Given the description of an element on the screen output the (x, y) to click on. 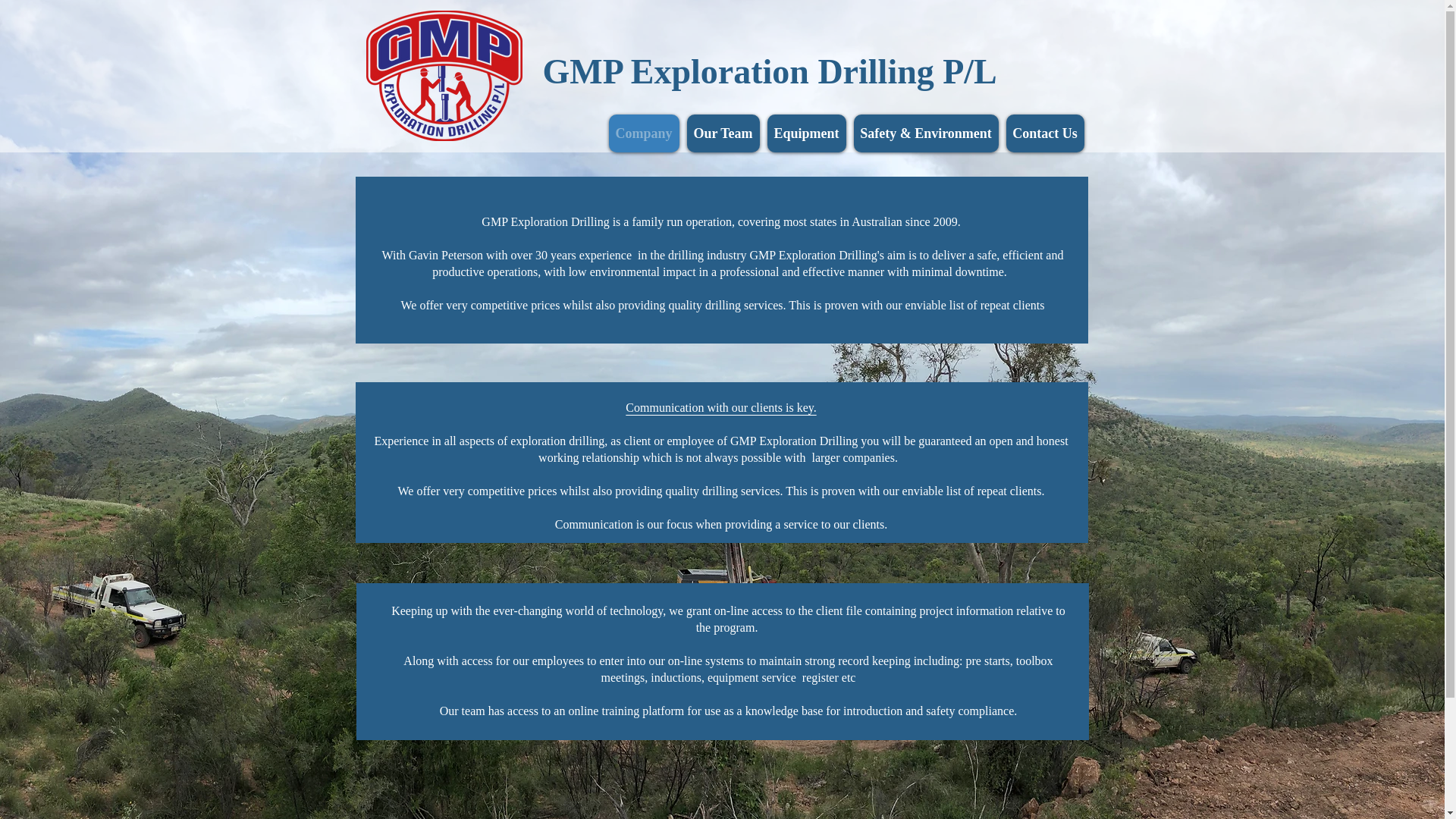
Contact Us Element type: text (1044, 133)
Our Team Element type: text (723, 133)
Equipment Element type: text (806, 133)
Communication with our clients is key. Element type: text (720, 407)
Safety & Environment Element type: text (925, 133)
Company Element type: text (643, 133)
